Given the description of an element on the screen output the (x, y) to click on. 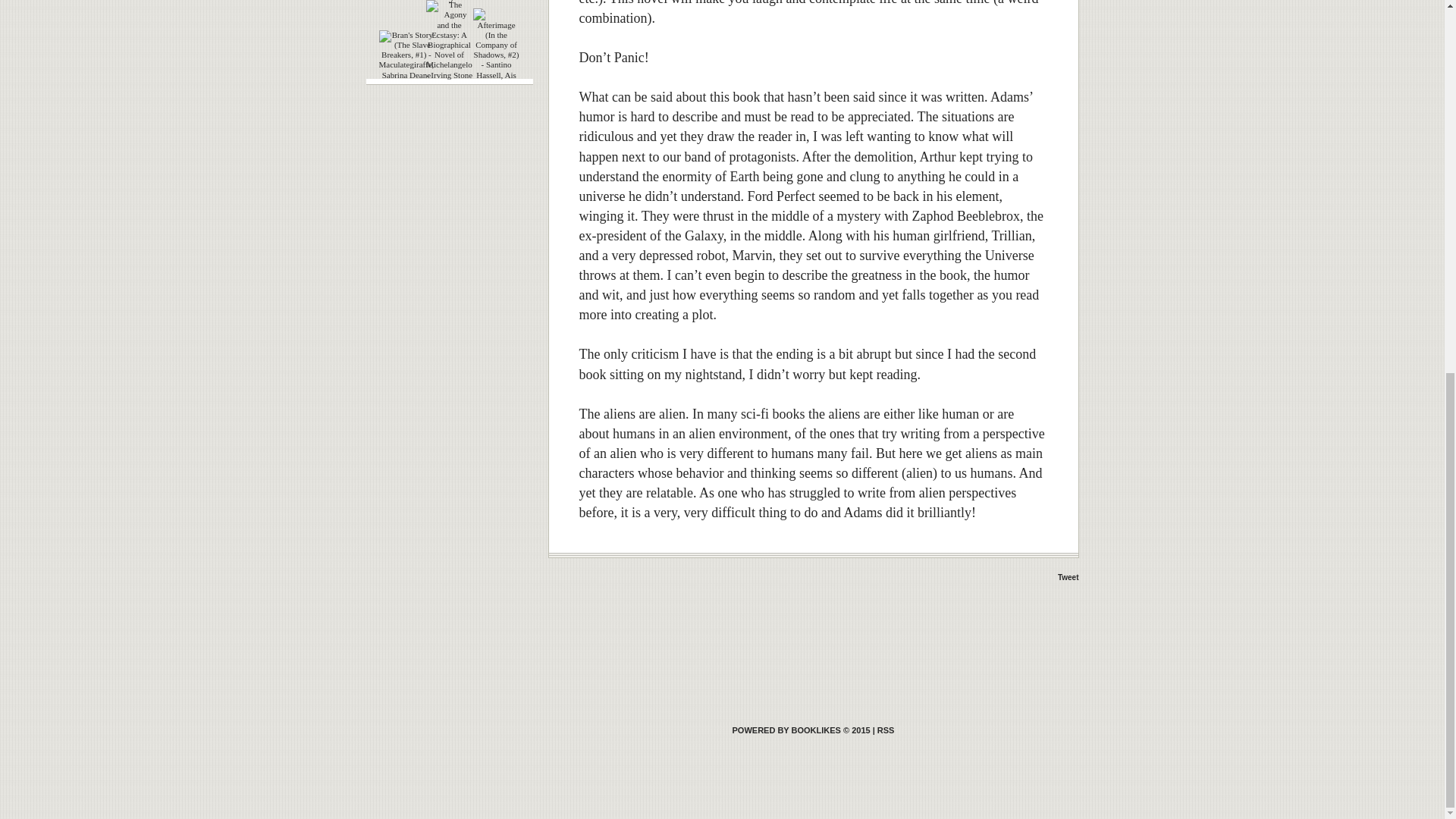
Recently added (449, 1)
RSS (886, 729)
Tweet (1068, 577)
BookLikes (886, 729)
BookLikes (801, 729)
